Given the description of an element on the screen output the (x, y) to click on. 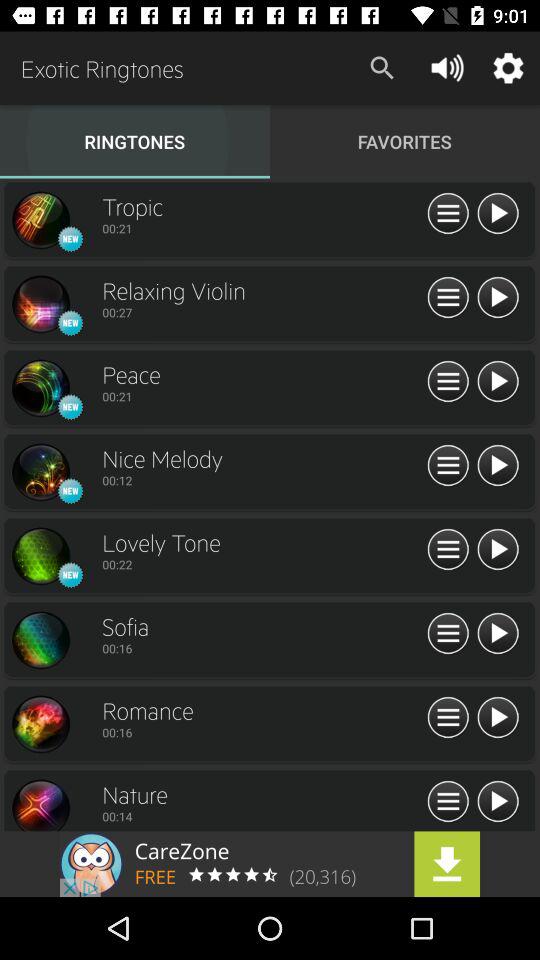
more option (447, 381)
